Given the description of an element on the screen output the (x, y) to click on. 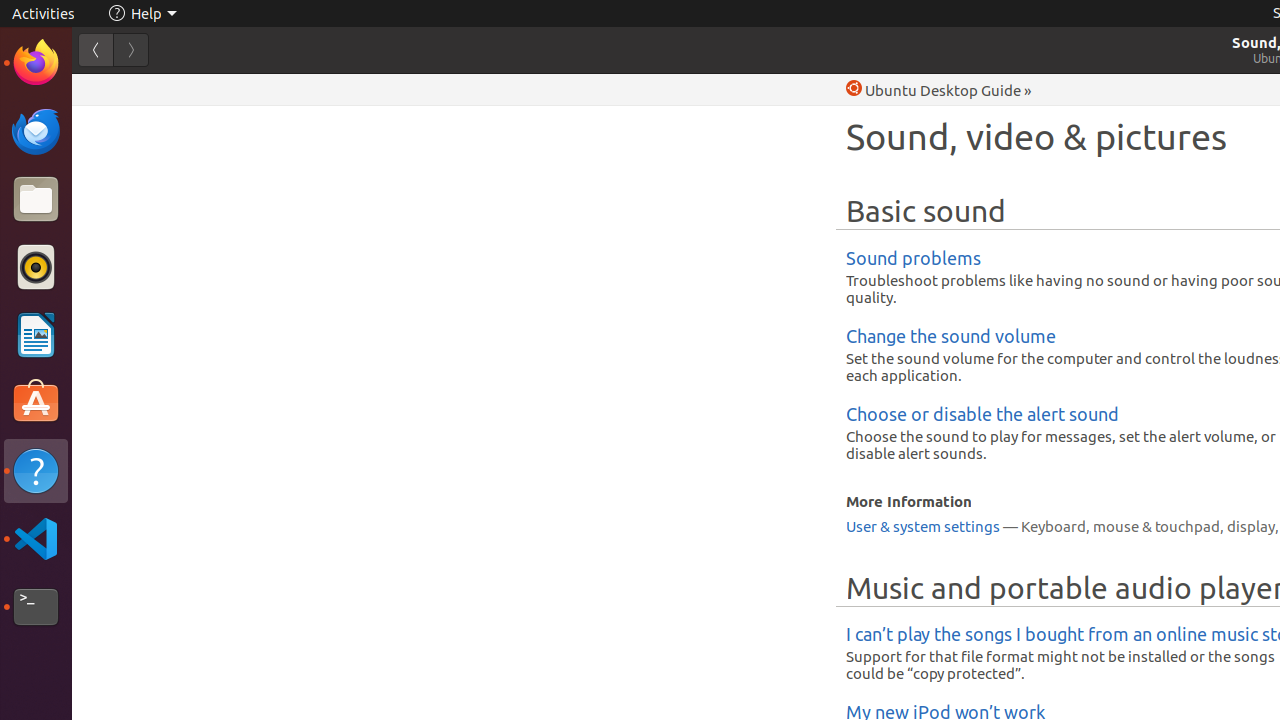
Terminal Element type: push-button (36, 607)
Help Ubuntu Desktop Guide Element type: link (933, 89)
Activities Element type: label (43, 13)
